Given the description of an element on the screen output the (x, y) to click on. 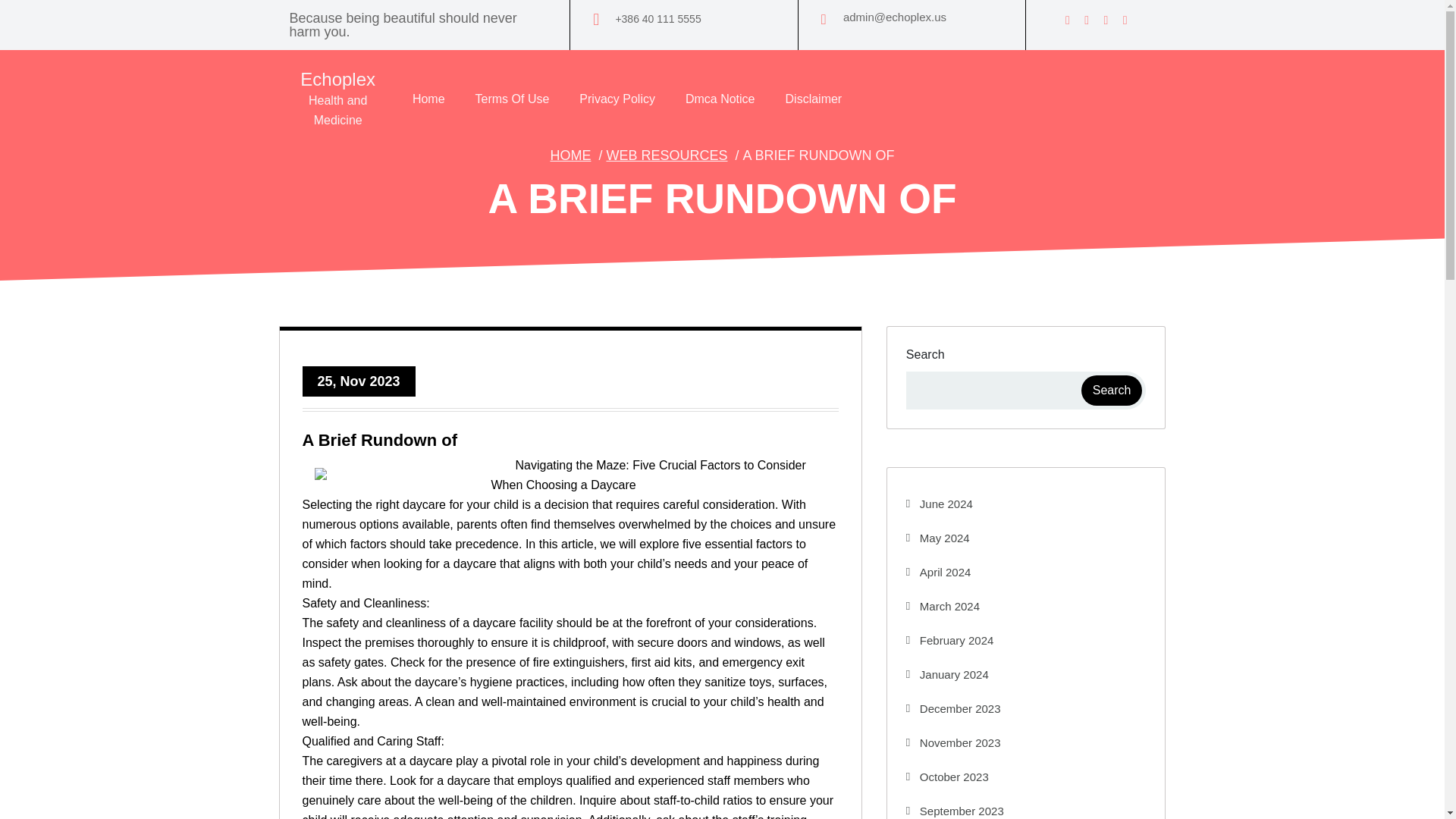
Terms Of Use (513, 98)
Dmca Notice (720, 98)
January 2024 (946, 674)
HOME (570, 155)
April 2024 (938, 571)
WEB RESOURCES (665, 155)
December 2023 (953, 708)
Echoplex (337, 79)
February 2024 (949, 640)
October 2023 (946, 776)
